Given the description of an element on the screen output the (x, y) to click on. 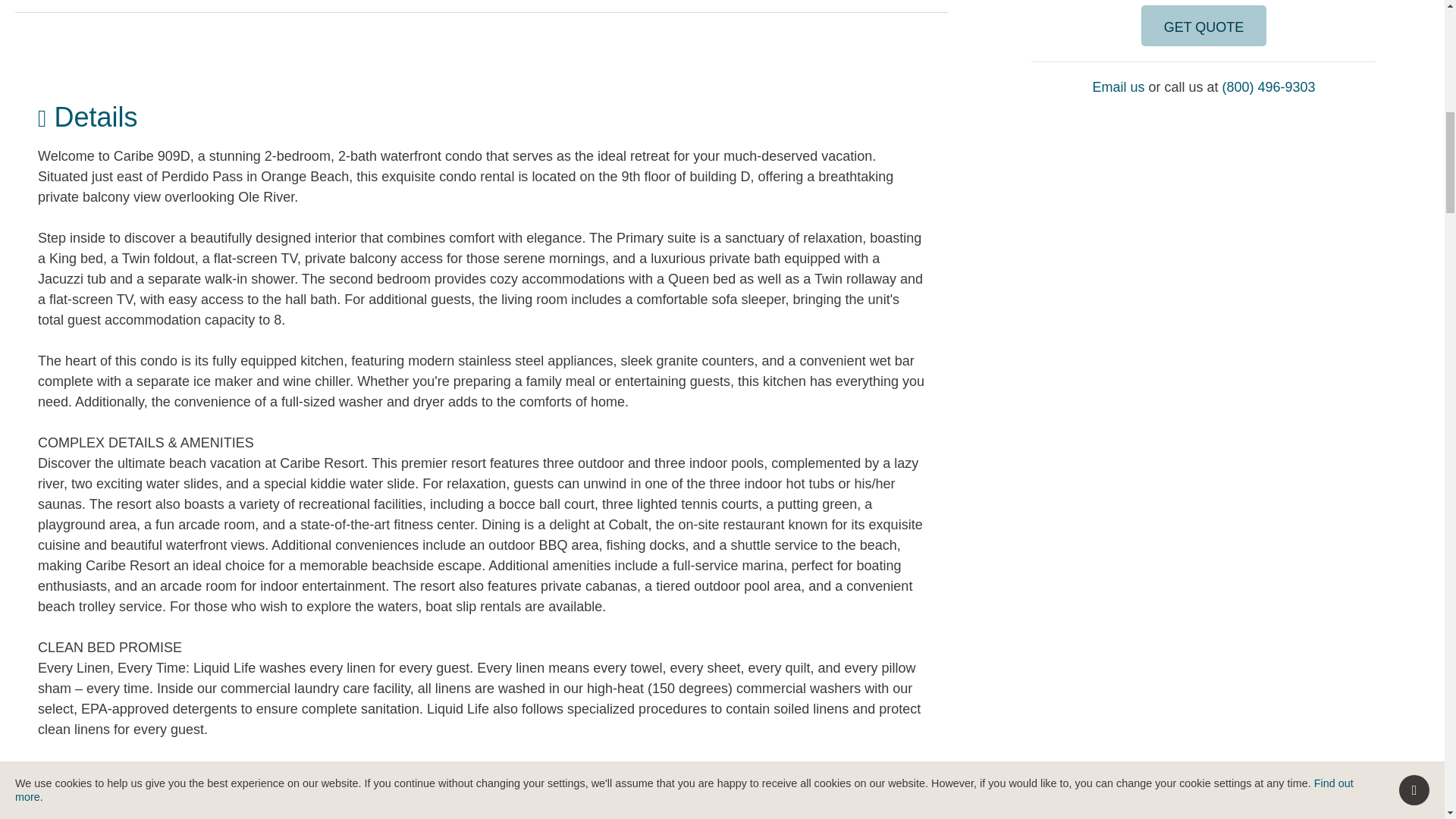
GET QUOTE (1203, 24)
Email us (1118, 87)
